Given the description of an element on the screen output the (x, y) to click on. 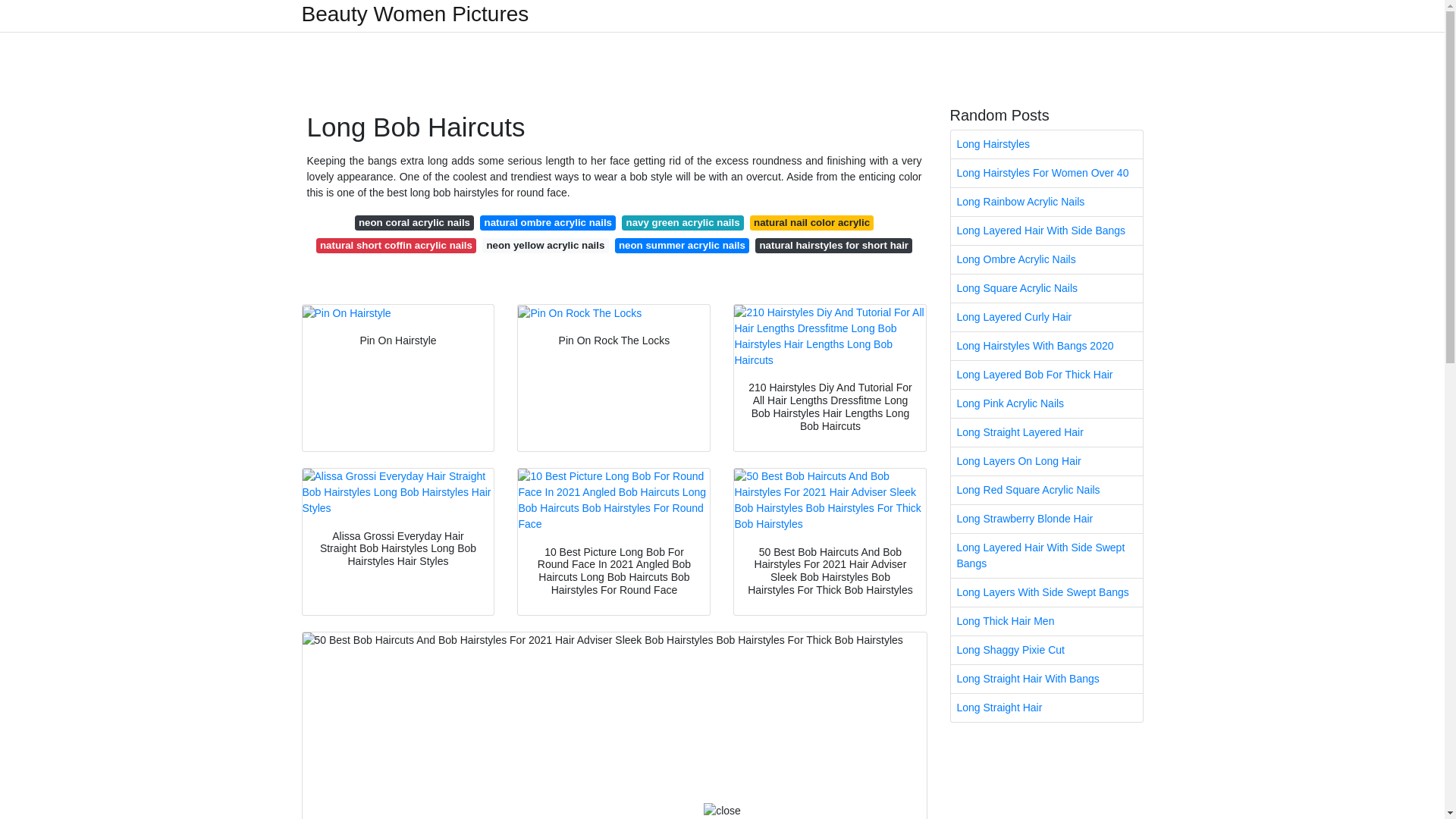
Long Red Square Acrylic Nails (1046, 489)
navy green acrylic nails (682, 222)
natural ombre acrylic nails (547, 222)
Long Square Acrylic Nails (1046, 288)
Beauty Women Pictures (415, 13)
close button (722, 811)
Long Straight Layered Hair (1046, 432)
neon yellow acrylic nails (544, 245)
Long Hairstyles For Women Over 40 (1046, 172)
natural hairstyles for short hair (833, 245)
